Given the description of an element on the screen output the (x, y) to click on. 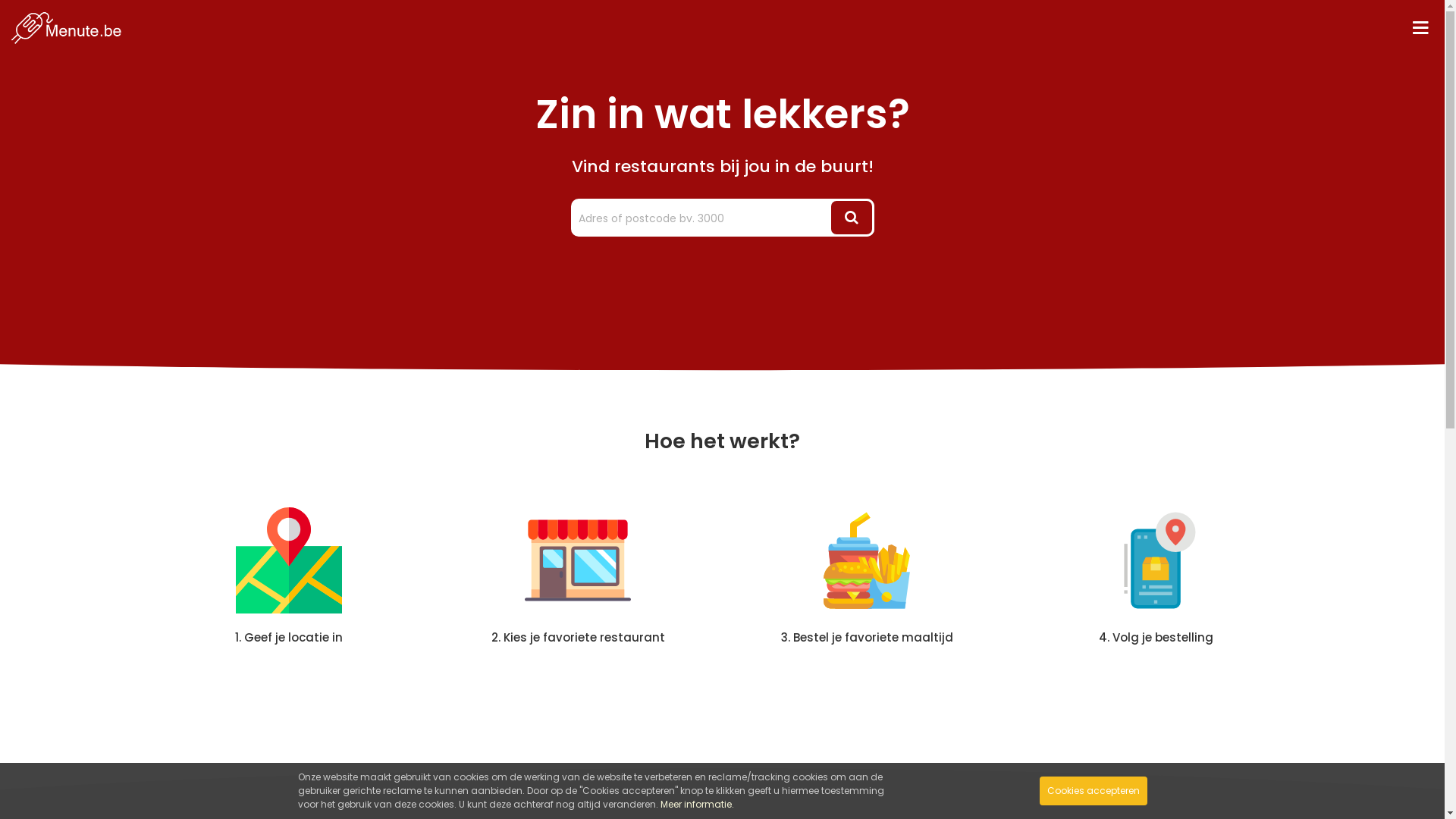
Step 4 Element type: hover (1155, 560)
Step 2 Element type: hover (577, 560)
Cookies accepteren Element type: text (1092, 790)
Meer informatie. Element type: text (696, 803)
Step 3 Element type: hover (866, 560)
Step 1 Element type: hover (288, 560)
